Given the description of an element on the screen output the (x, y) to click on. 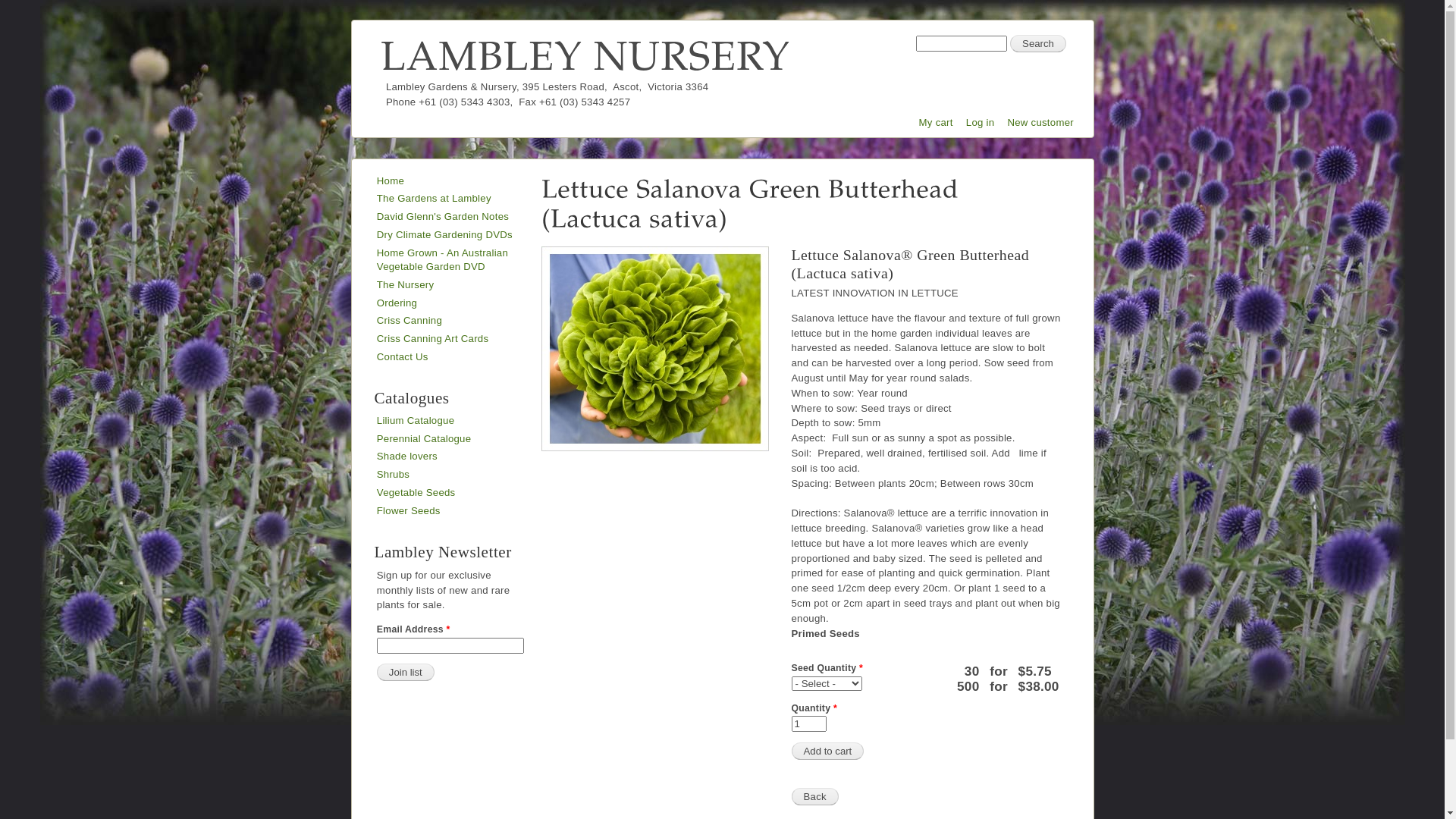
Ordering Element type: text (396, 302)
Log in Element type: text (980, 122)
Search Element type: text (1038, 43)
The Gardens at Lambley Element type: text (433, 197)
Home Element type: hover (585, 55)
Dry Climate Gardening DVDs Element type: text (444, 234)
Shade lovers Element type: text (406, 455)
David Glenn's Garden Notes Element type: text (442, 216)
Criss Canning Element type: text (409, 320)
Add to cart Element type: text (827, 750)
New customer Element type: text (1040, 122)
Join list Element type: text (405, 671)
My cart Element type: text (936, 122)
Criss Canning Art Cards Element type: text (432, 338)
Home Element type: text (390, 180)
Home Grown - An Australian Vegetable Garden DVD Element type: text (442, 259)
Enter the terms you wish to search for. Element type: hover (961, 43)
Back Element type: text (814, 796)
Contact Us Element type: text (402, 356)
Flower Seeds Element type: text (408, 510)
Lilium Catalogue Element type: text (415, 420)
The Nursery Element type: text (404, 284)
Shrubs Element type: text (392, 474)
Skip to main content Element type: text (693, 20)
Vegetable Seeds Element type: text (415, 492)
Perennial Catalogue Element type: text (423, 438)
